Given the description of an element on the screen output the (x, y) to click on. 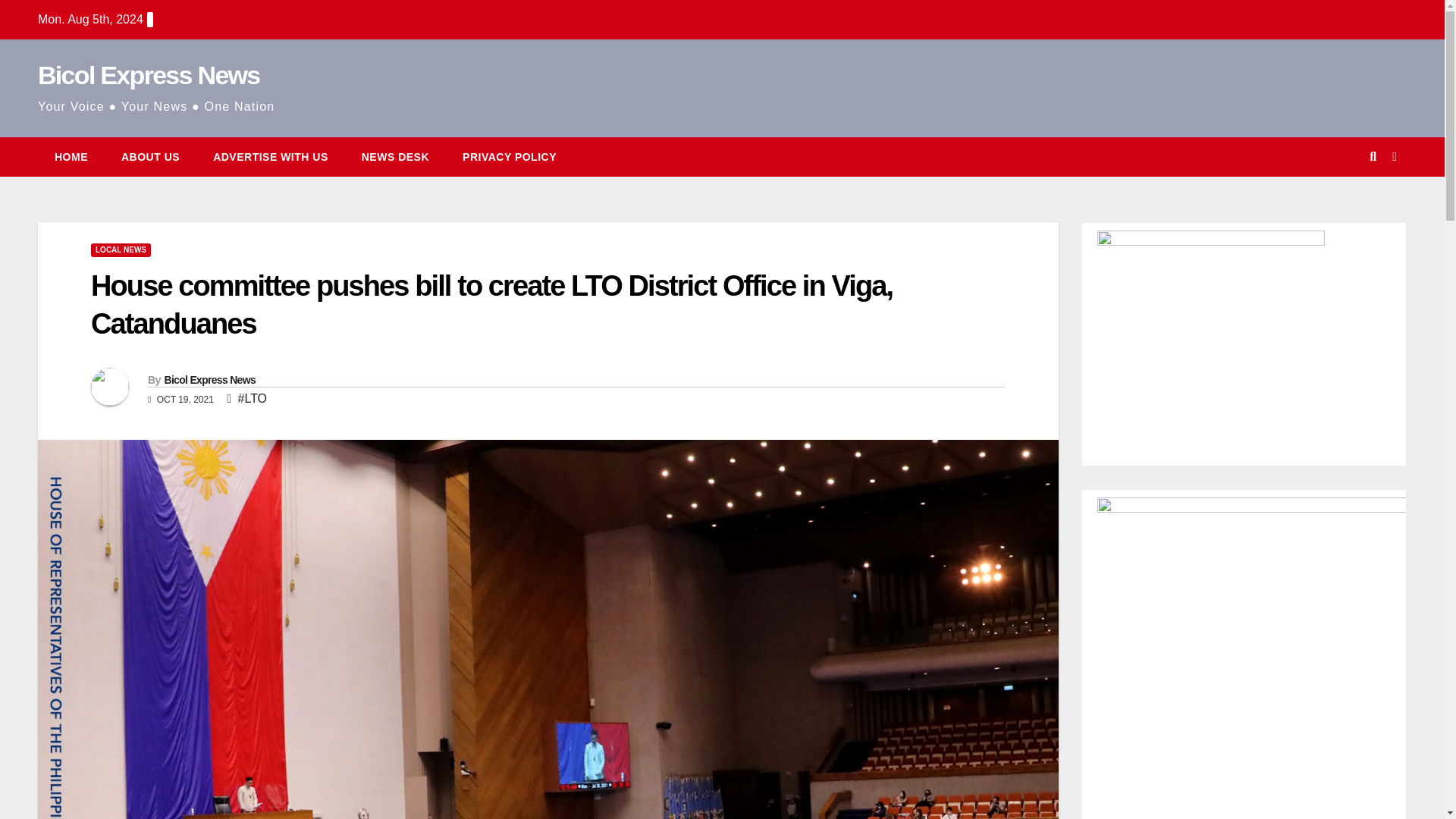
Bicol Express News (208, 379)
HOME (70, 156)
PRIVACY POLICY (509, 156)
ADVERTISE WITH US (270, 156)
ABOUT US (150, 156)
NEWS DESK (395, 156)
Home (70, 156)
Bicol Express News (148, 74)
LOCAL NEWS (120, 250)
